Given the description of an element on the screen output the (x, y) to click on. 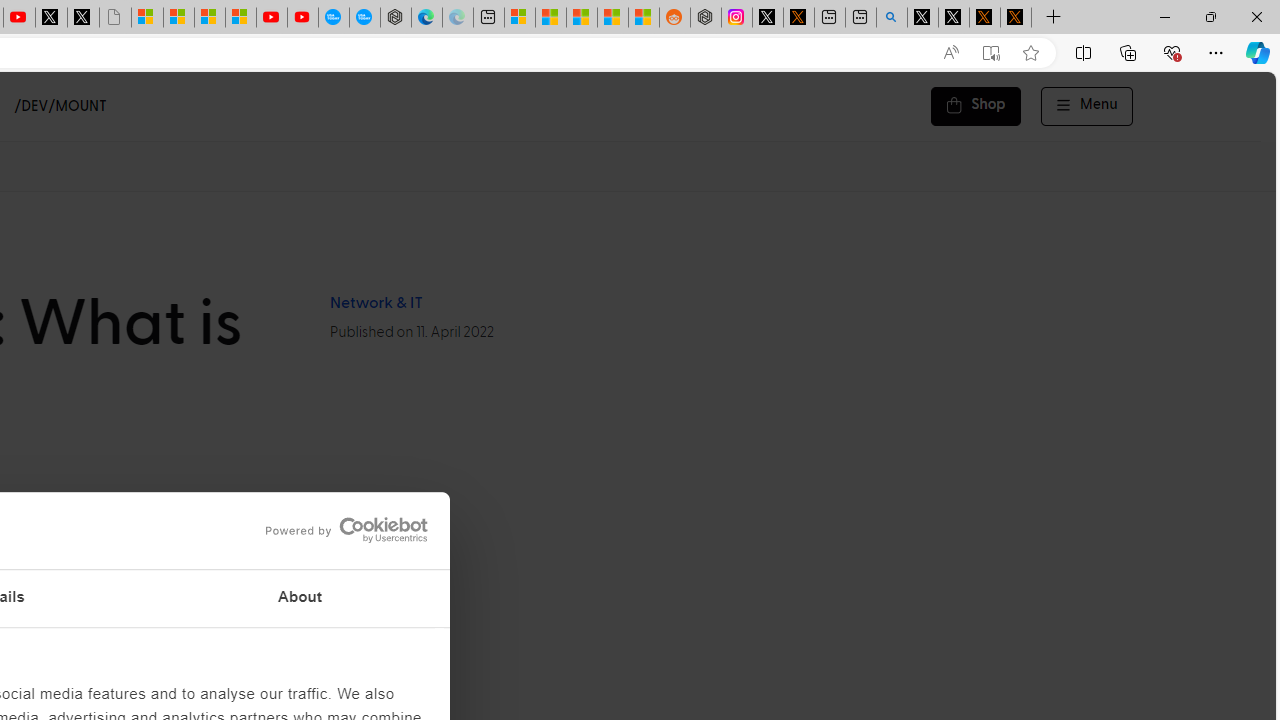
Shop (975, 106)
Enter Immersive Reader (F9) (991, 53)
